Given the description of an element on the screen output the (x, y) to click on. 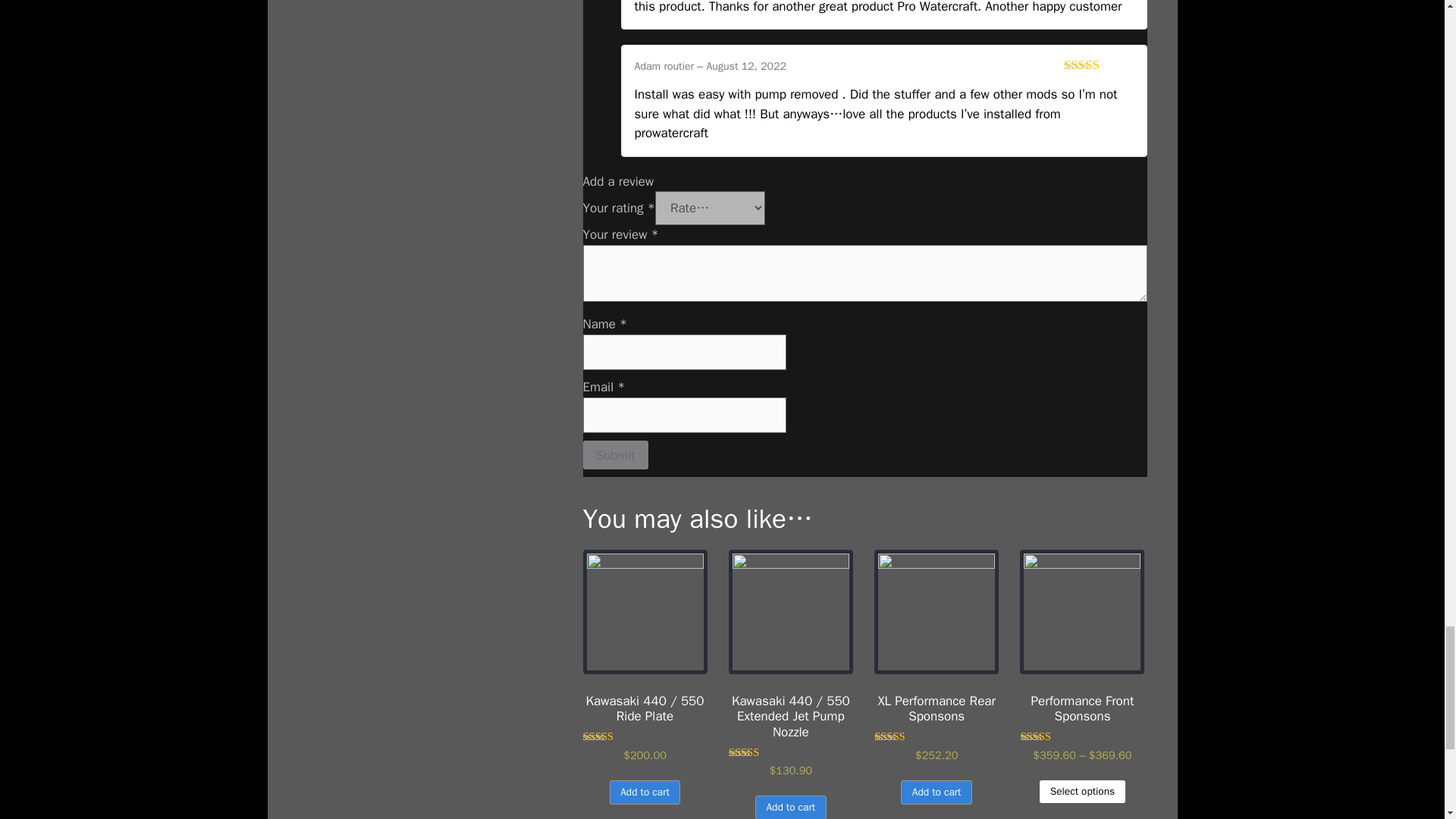
Submit (614, 454)
